Given the description of an element on the screen output the (x, y) to click on. 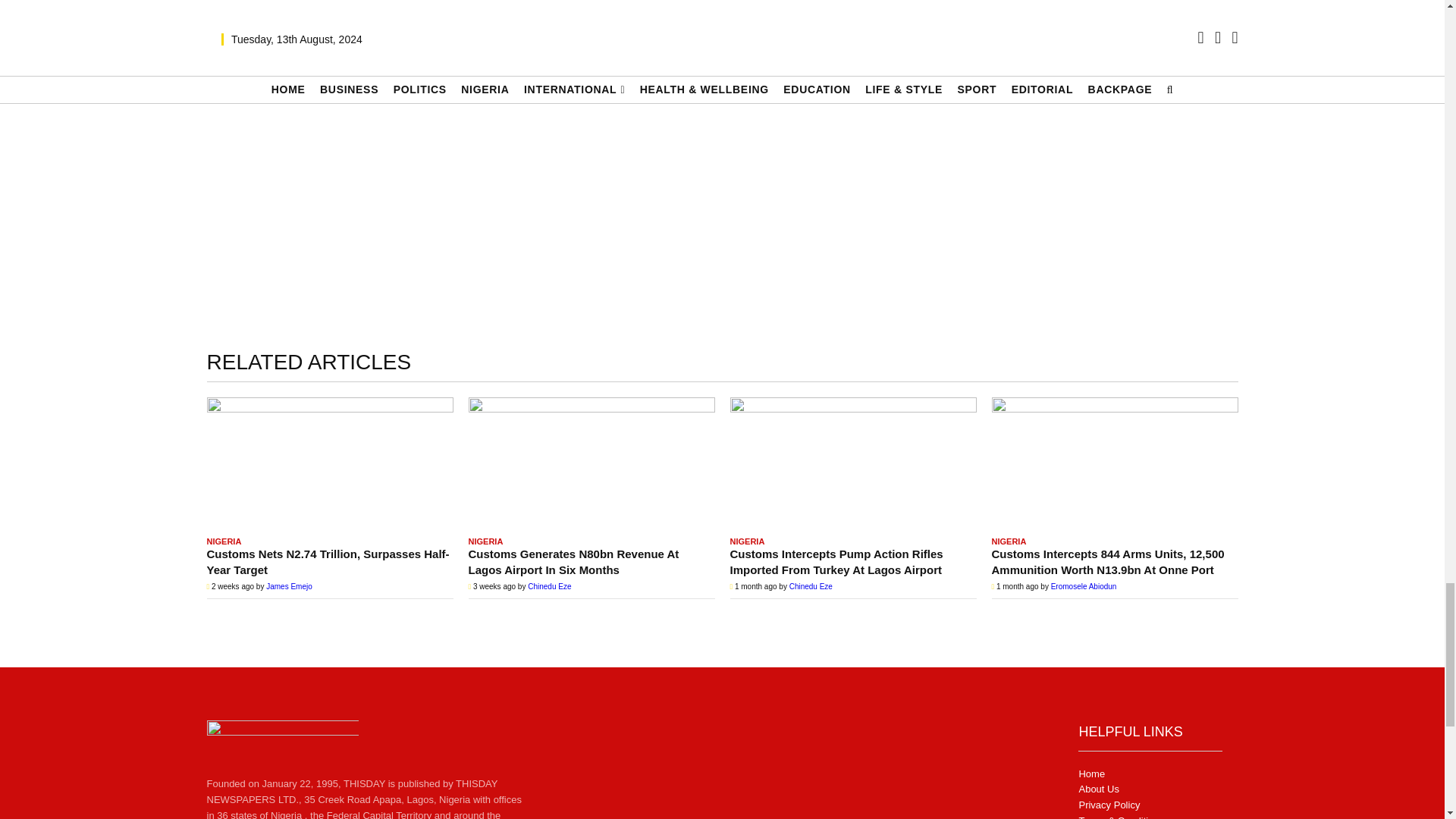
Customs Nets N2.74 Trillion, Surpasses Half-year Target (329, 463)
Posts by Chinedu Eze (810, 586)
Posts by Chinedu Eze (548, 586)
Posts by James Emejo (289, 586)
Posts by Eromosele Abiodun (1083, 586)
